Given the description of an element on the screen output the (x, y) to click on. 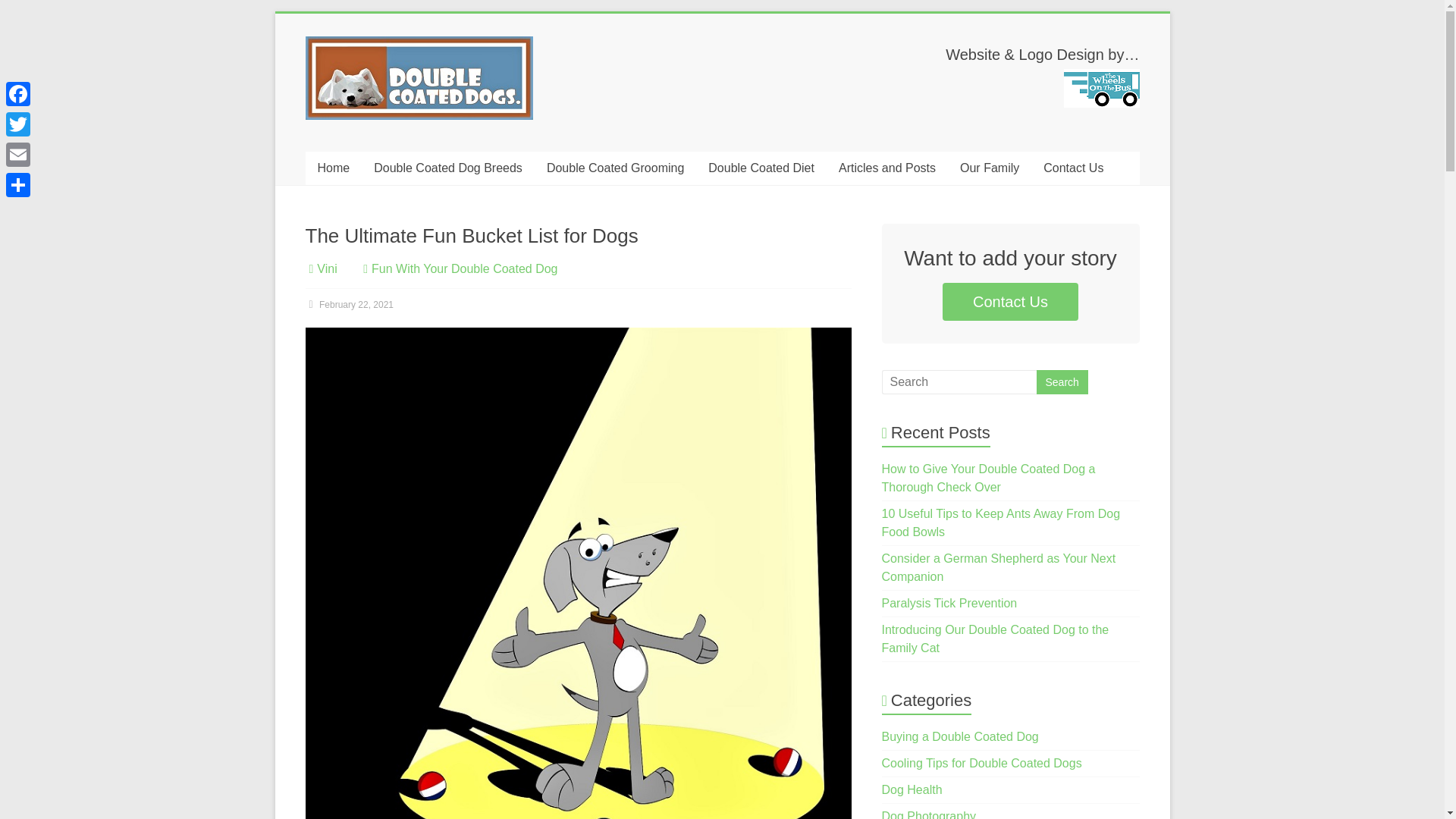
Articles and Posts (887, 168)
Dog Photography (929, 814)
Buying a Double Coated Dog (960, 736)
Our Family (988, 168)
10 Useful Tips to Keep Ants Away From Dog Food Bowls (1001, 522)
Consider a German Shepherd as Your Next Companion (999, 567)
Paralysis Tick Prevention (949, 603)
Double Coated Dogs (348, 84)
Contact Us (1010, 301)
Introducing Our Double Coated Dog to the Family Cat (995, 638)
Vini (326, 268)
Dog Health (912, 789)
10:12 pm (348, 304)
Double Coated Dog Breeds (447, 168)
Search (1061, 381)
